Given the description of an element on the screen output the (x, y) to click on. 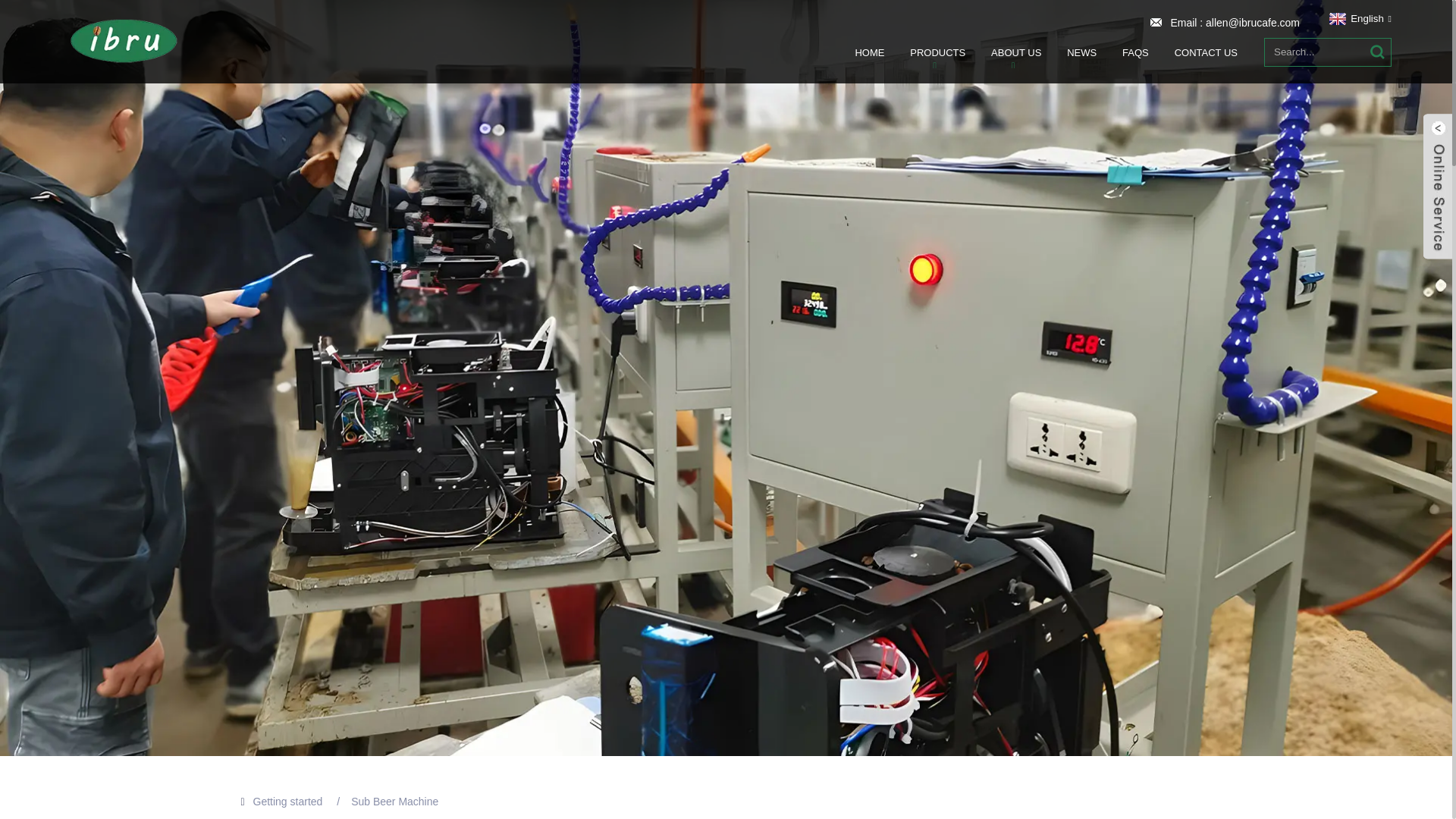
HOME (869, 52)
Getting started (288, 801)
English (1357, 18)
ABOUT US (1015, 52)
CONTACT US (1206, 52)
PRODUCTS (937, 52)
FAQS (1135, 52)
Sub Beer Machine (394, 801)
NEWS (1081, 52)
